Given the description of an element on the screen output the (x, y) to click on. 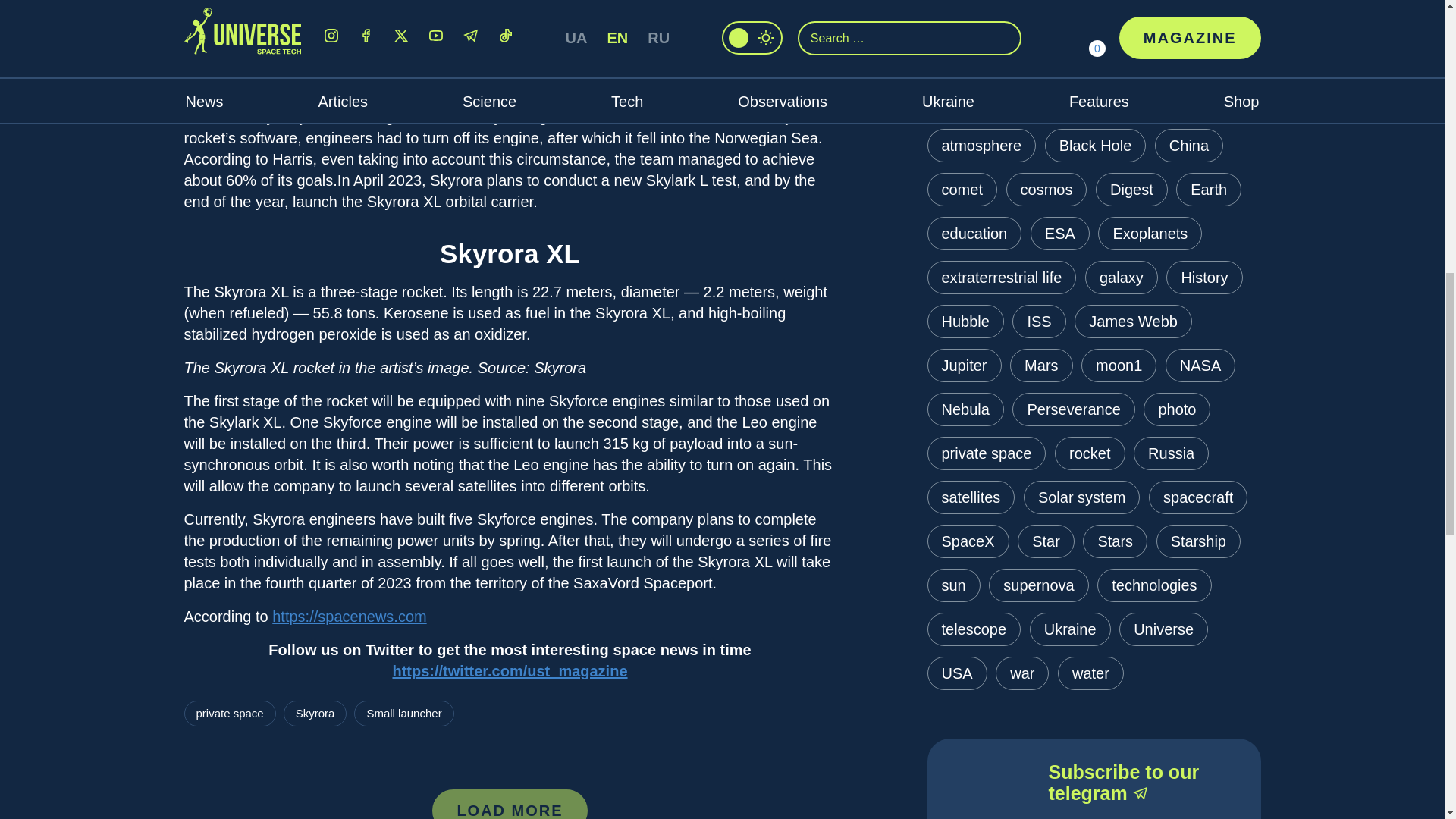
private space (229, 713)
Skyrora (315, 713)
Small launcher (402, 713)
LOAD MORE (509, 803)
